Given the description of an element on the screen output the (x, y) to click on. 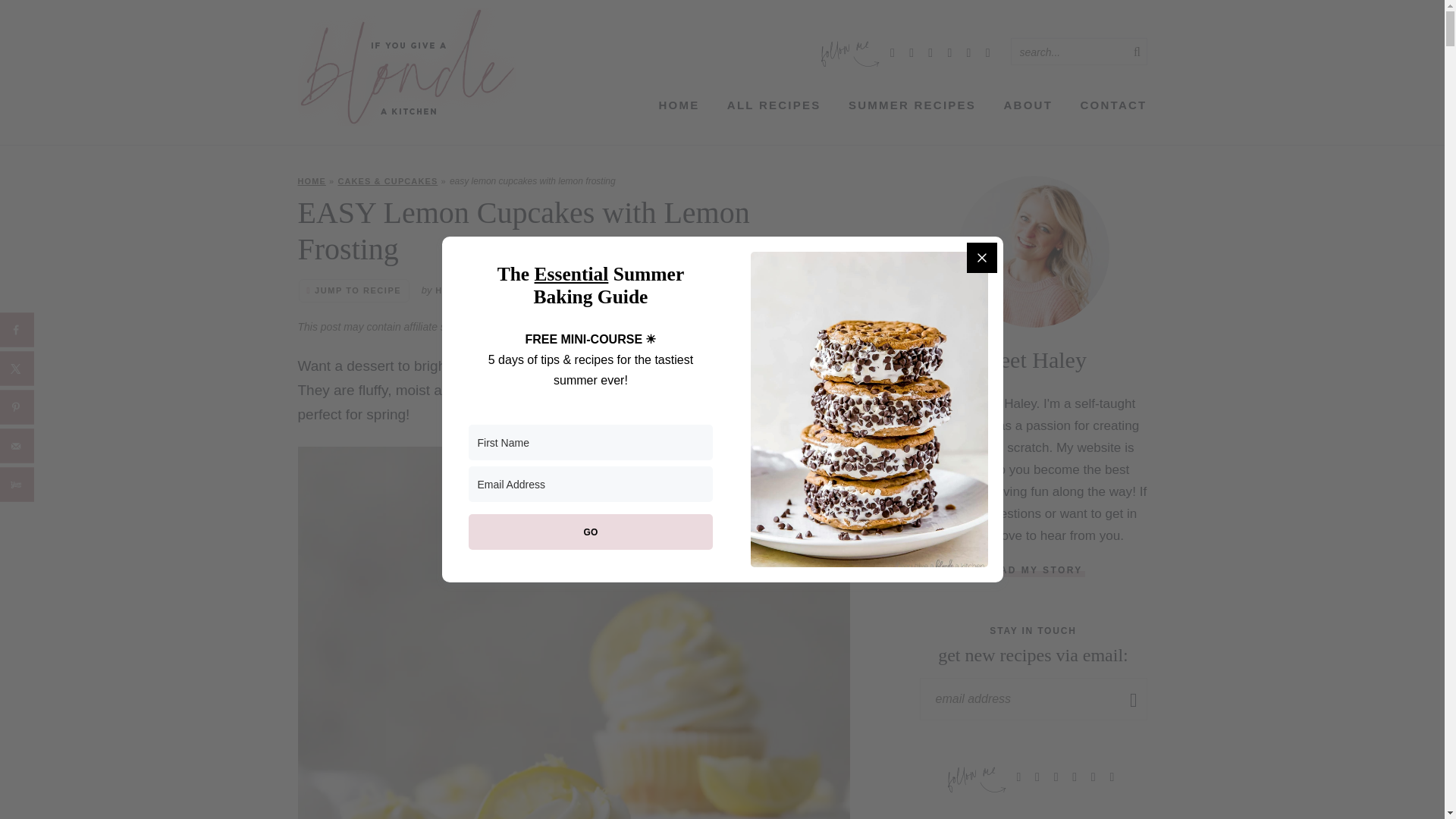
ABOUT (1028, 105)
HALEY (451, 289)
Twitter (949, 51)
privacy policy (599, 326)
HOME (678, 105)
TikTok (987, 51)
Instagram (892, 51)
JUMP TO RECIPE (354, 290)
HOME (310, 180)
CONTACT (1113, 105)
Facebook (911, 51)
SUMMER RECIPES (912, 105)
ALL RECIPES (774, 105)
Youtube (968, 51)
If You Give a Blonde a Kitchen (406, 66)
